Given the description of an element on the screen output the (x, y) to click on. 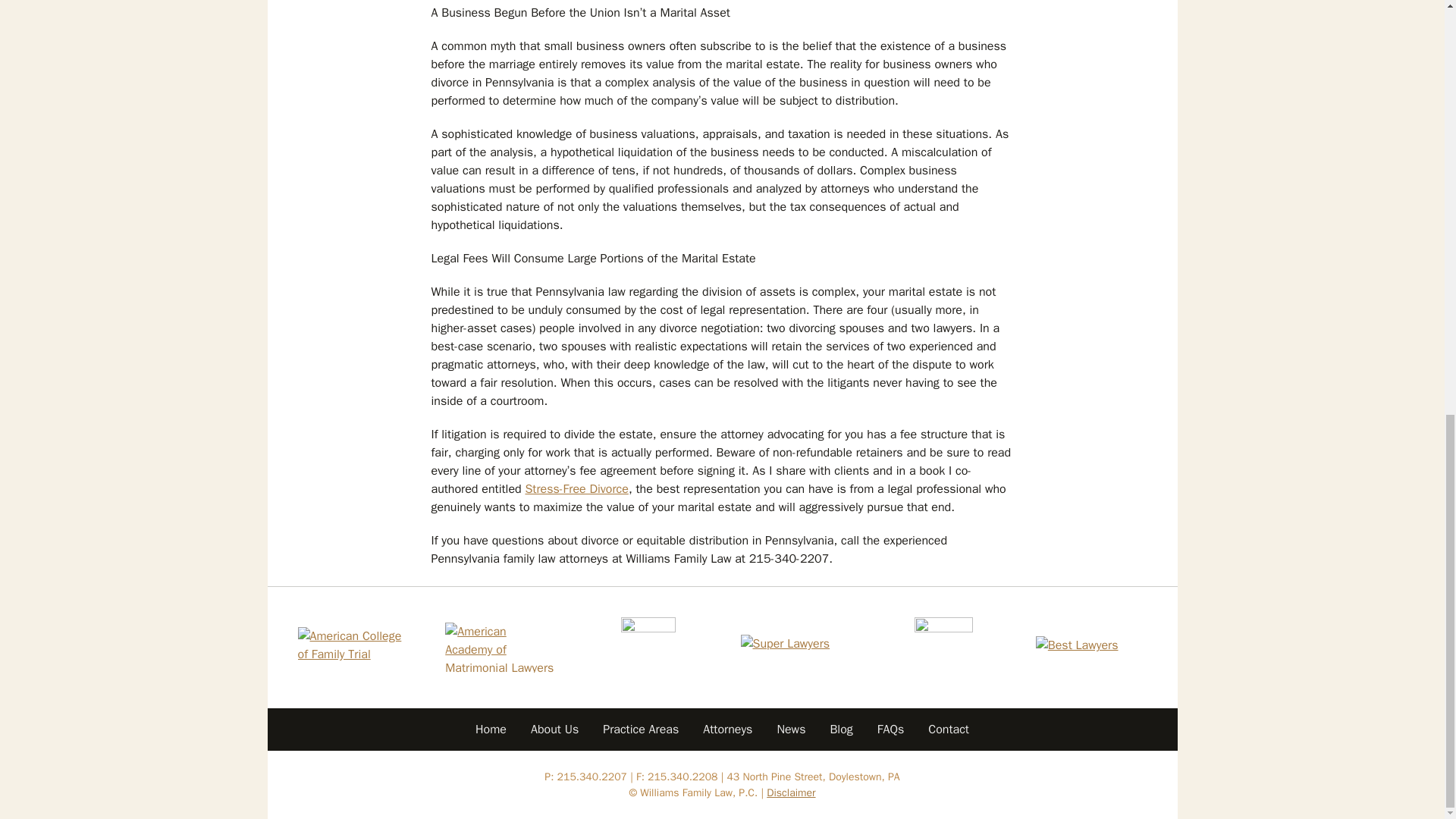
Home (490, 729)
Blog (840, 729)
FAQs (889, 729)
Stress-Free Divorce (575, 488)
Practice Areas (640, 729)
Disclaimer (791, 792)
Contact (948, 729)
News (790, 729)
About Us (554, 729)
Attorneys (727, 729)
